Given the description of an element on the screen output the (x, y) to click on. 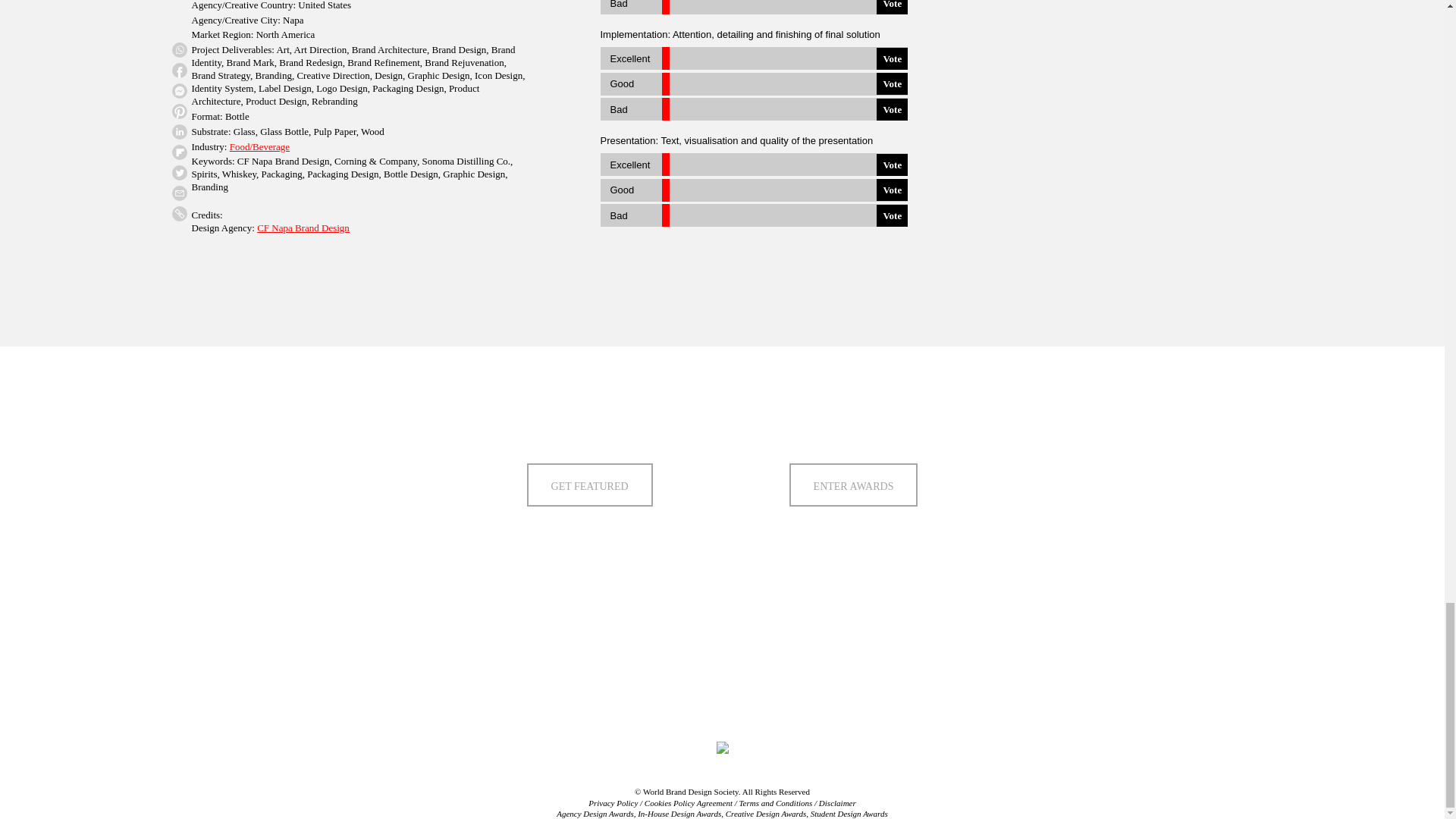
CF Napa Brand Design (303, 227)
